Given the description of an element on the screen output the (x, y) to click on. 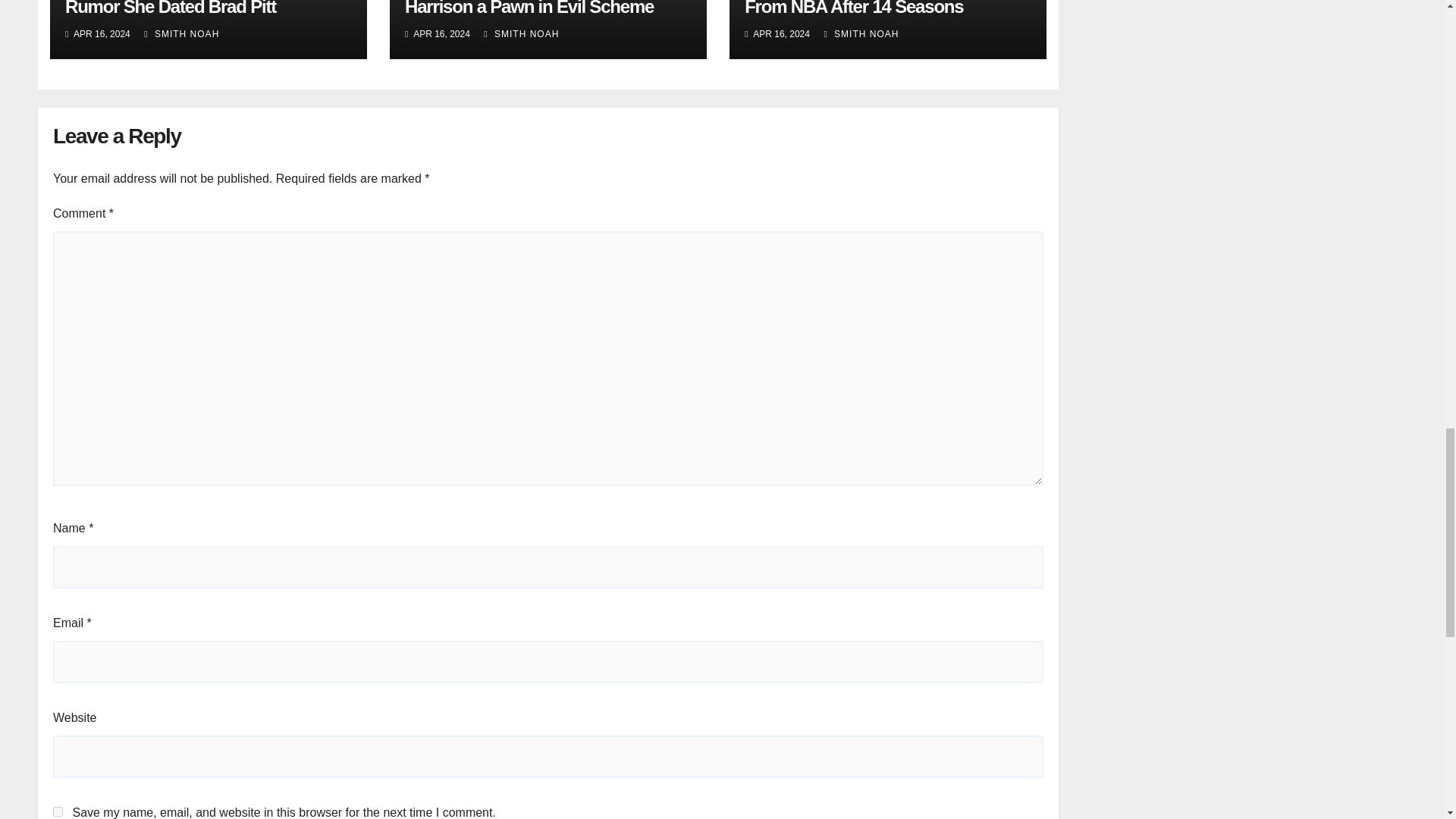
SMITH NOAH (181, 33)
yes (57, 811)
Ella Purnell Quashes Disgusting Rumor She Dated Brad Pitt (191, 8)
